Given the description of an element on the screen output the (x, y) to click on. 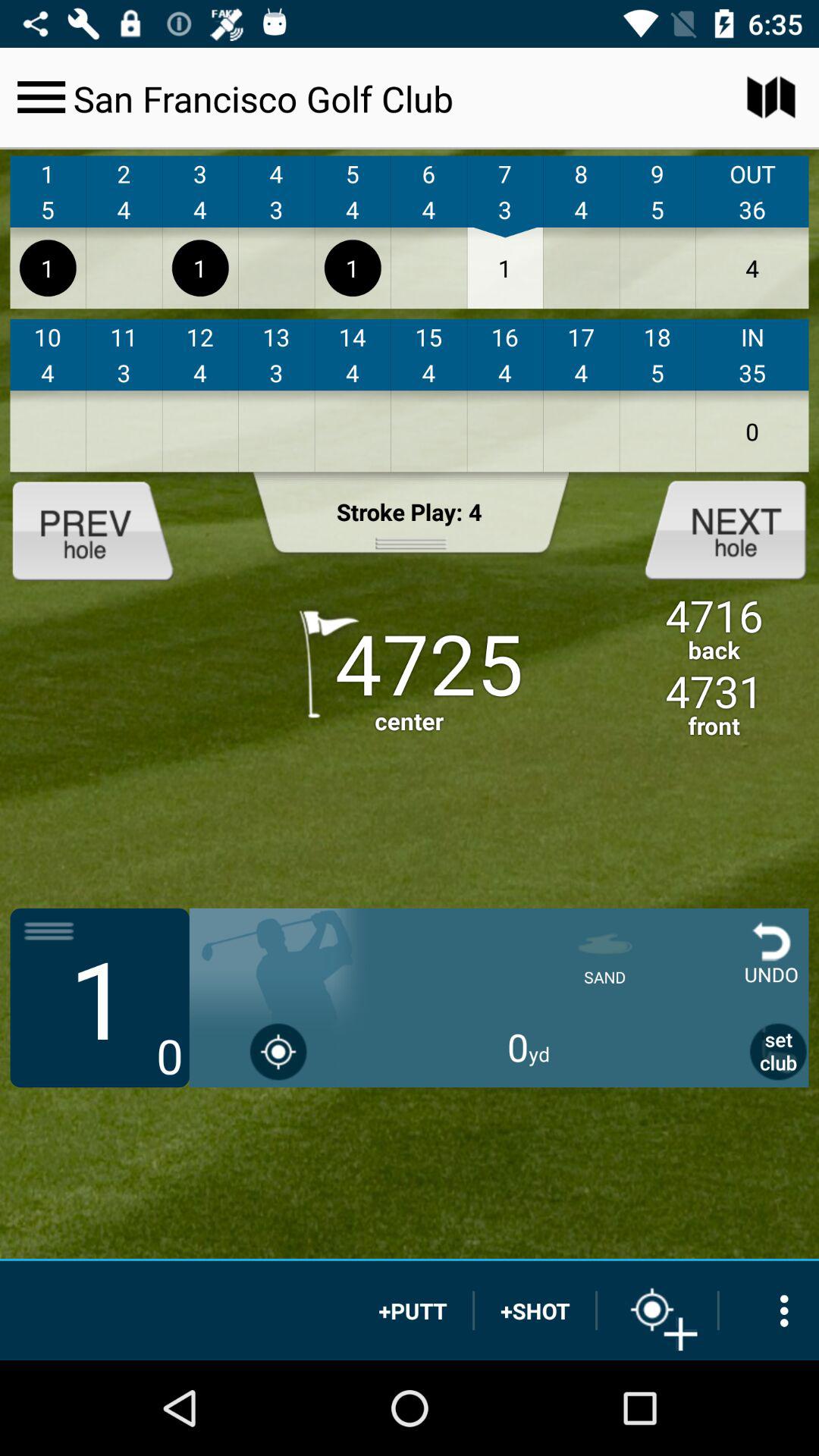
go to previous hole (105, 528)
